Given the description of an element on the screen output the (x, y) to click on. 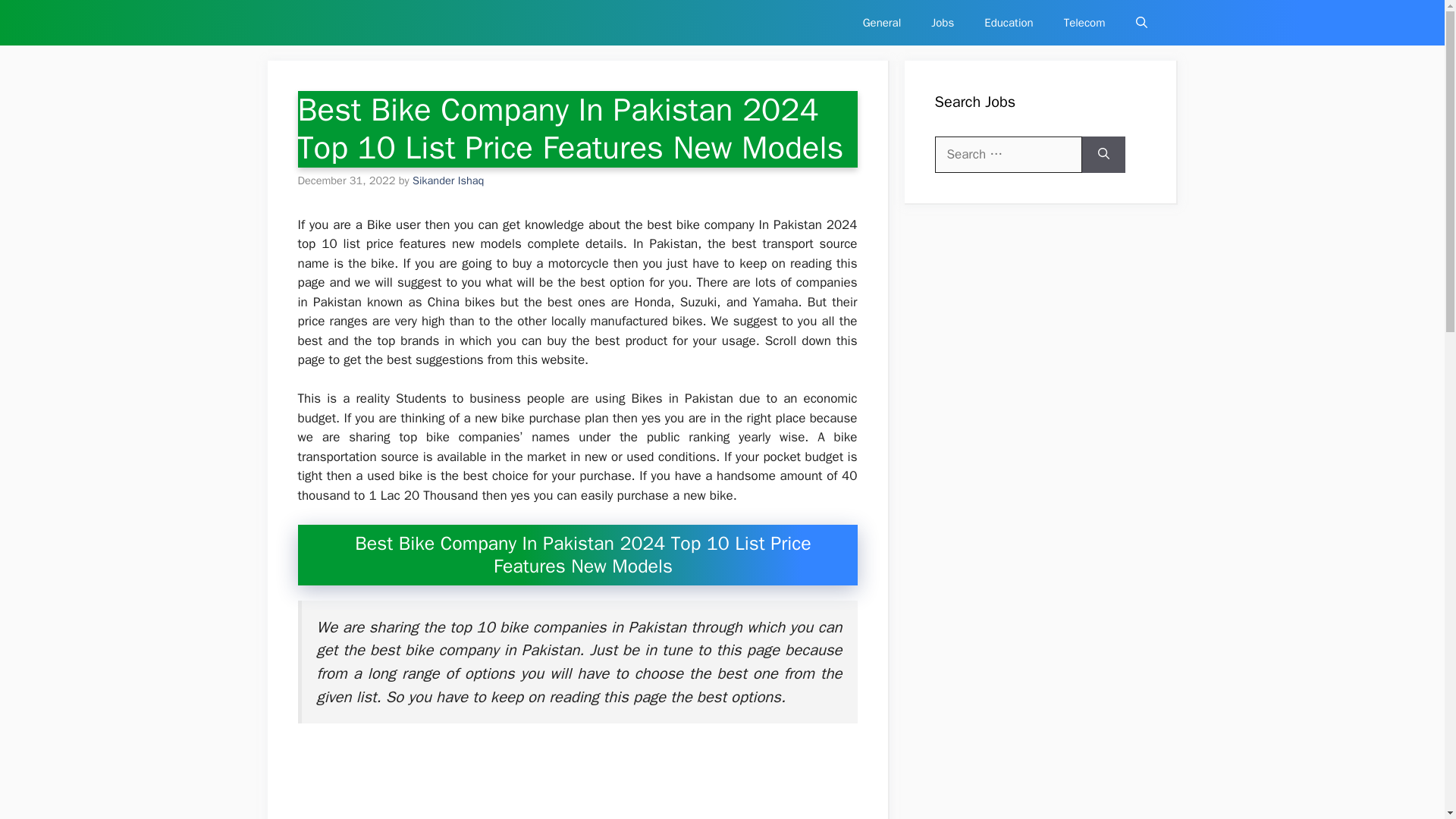
View all posts by Sikander Ishaq (447, 180)
Sikander Ishaq (447, 180)
General (882, 22)
Education (1008, 22)
Search for: (1007, 154)
Jobs (942, 22)
Telecom (1084, 22)
